Given the description of an element on the screen output the (x, y) to click on. 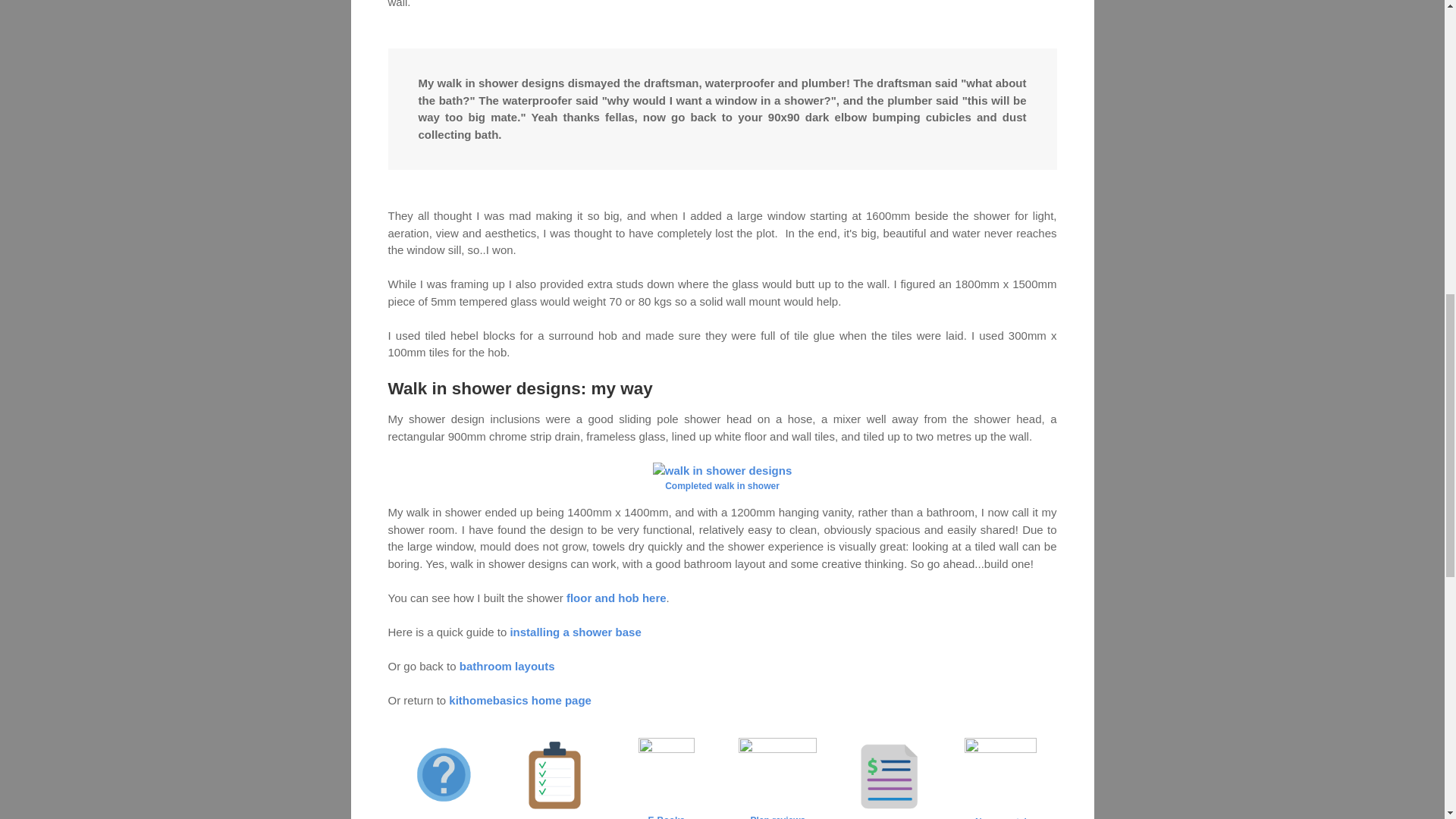
Go to Groundwork for Home Building Plans (554, 810)
Go to House Floor Plans and Designs (777, 780)
walk in shower designs (722, 470)
Go to Kit Home News Portal (1000, 780)
Go to Kit Home FAQ (443, 810)
Go to PDF Ebooks for Do it Yourself Home Building (666, 780)
Go to Kit Home Prices (888, 811)
